Given the description of an element on the screen output the (x, y) to click on. 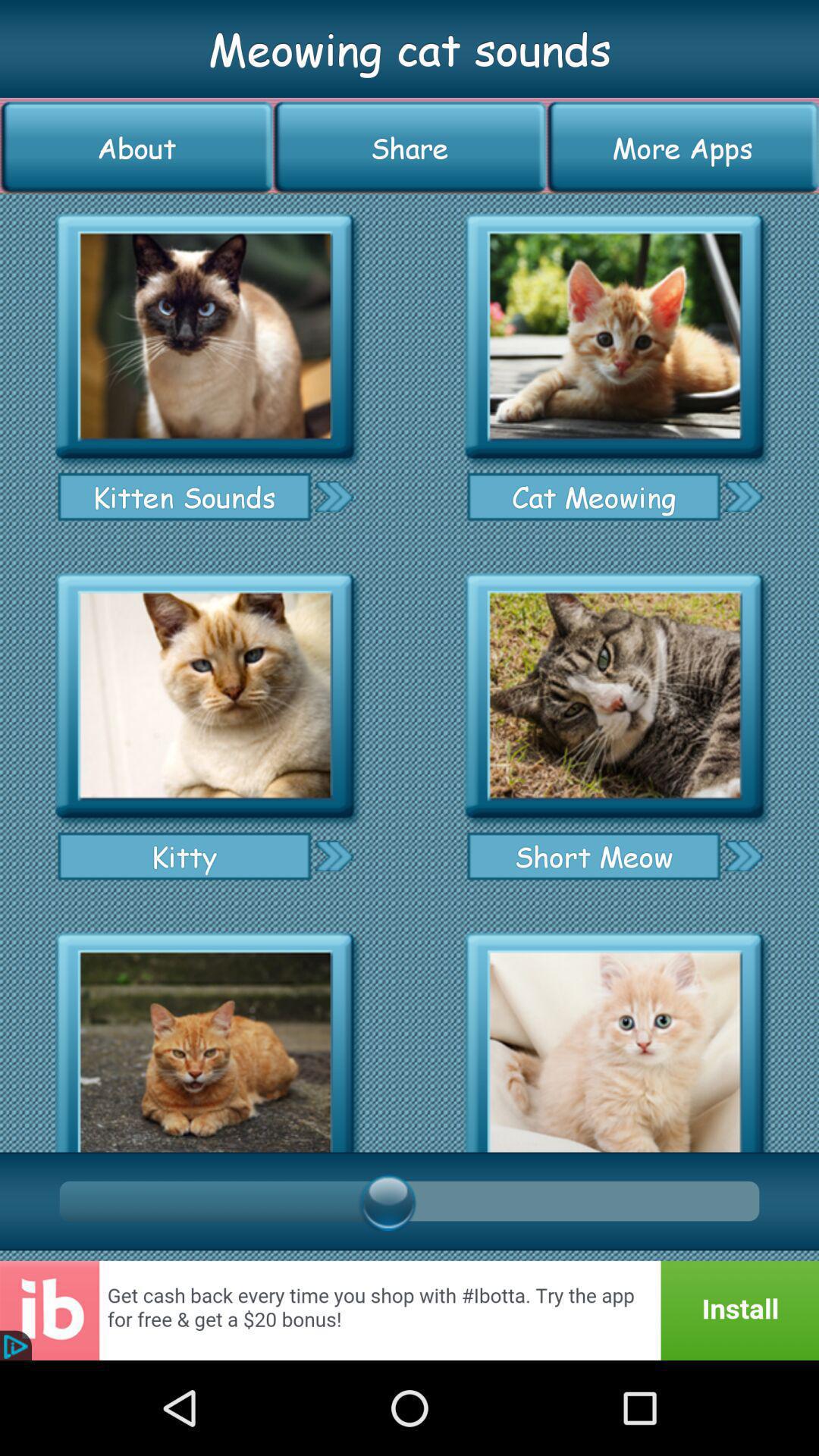
launch the about (136, 147)
